Given the description of an element on the screen output the (x, y) to click on. 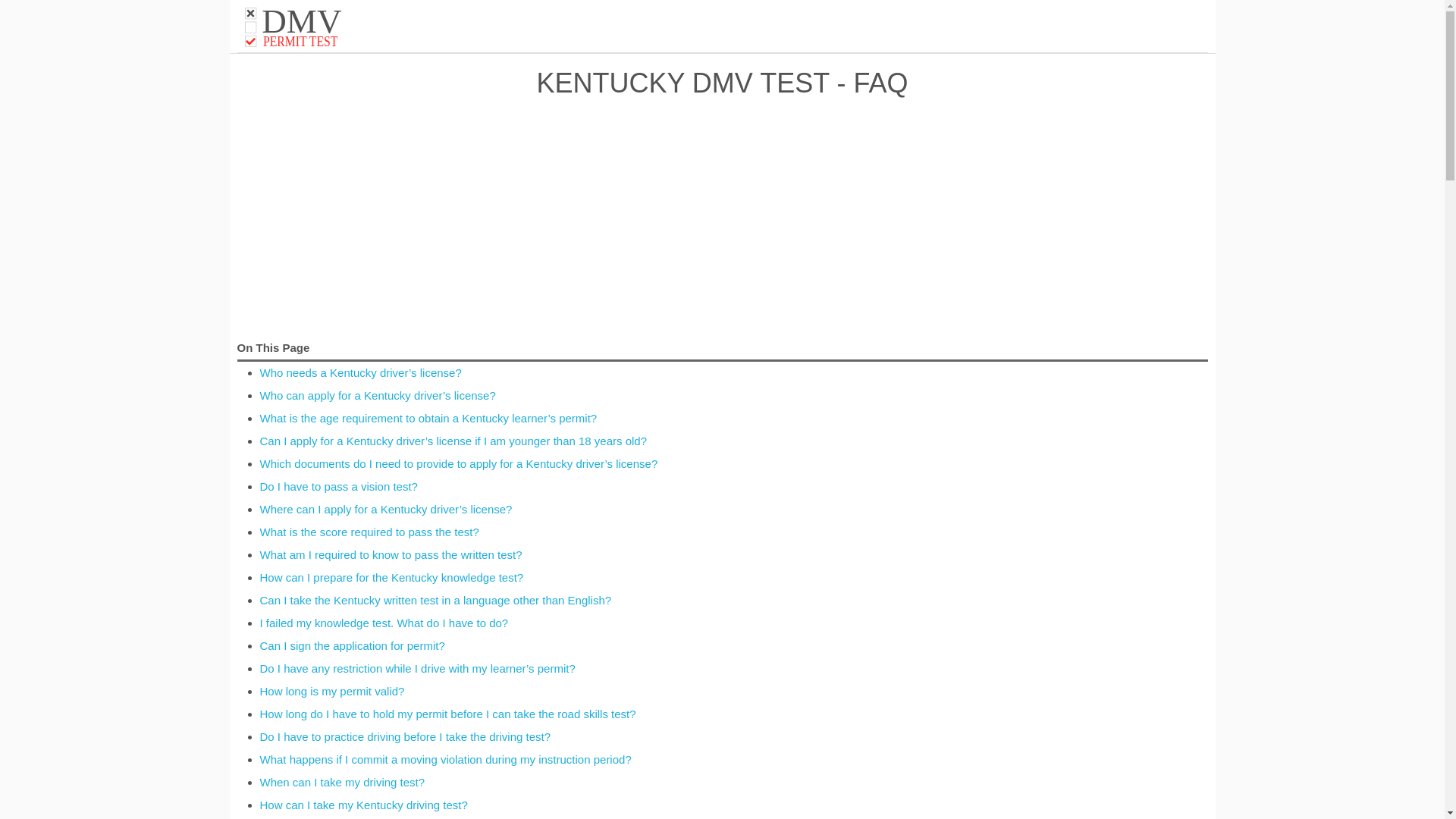
Do I have to pass a vision test? (337, 486)
How long is my permit valid? (301, 26)
What am I required to know to pass the written test? (331, 690)
How can I prepare for the Kentucky knowledge test? (301, 28)
I failed my knowledge test. What do I have to do? (390, 554)
Advertisement (390, 576)
Can I sign the application for permit? (383, 622)
When can I take my driving test? (351, 645)
